Given the description of an element on the screen output the (x, y) to click on. 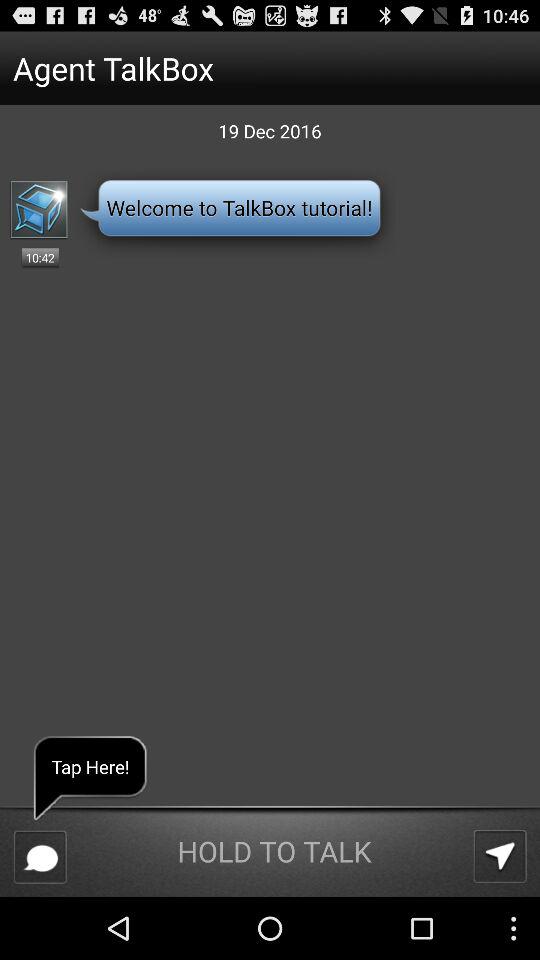
launch the agent talkbox item (233, 68)
